Given the description of an element on the screen output the (x, y) to click on. 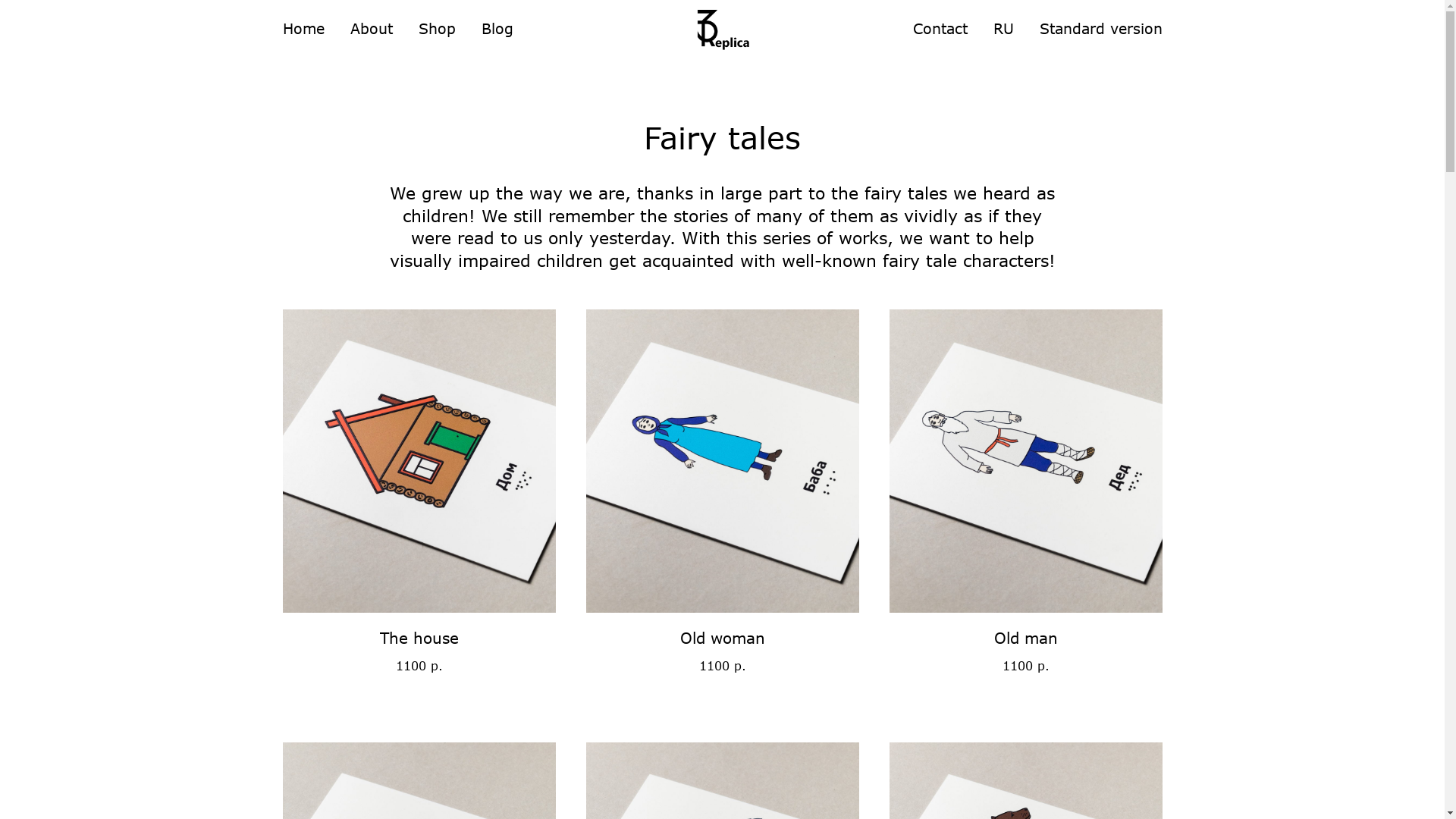
Contact Element type: text (940, 28)
About Element type: text (371, 28)
Home Element type: text (302, 28)
Shop Element type: text (436, 28)
RU Element type: text (1003, 28)
Blog Element type: text (496, 28)
Standard version Element type: text (1099, 28)
